Given the description of an element on the screen output the (x, y) to click on. 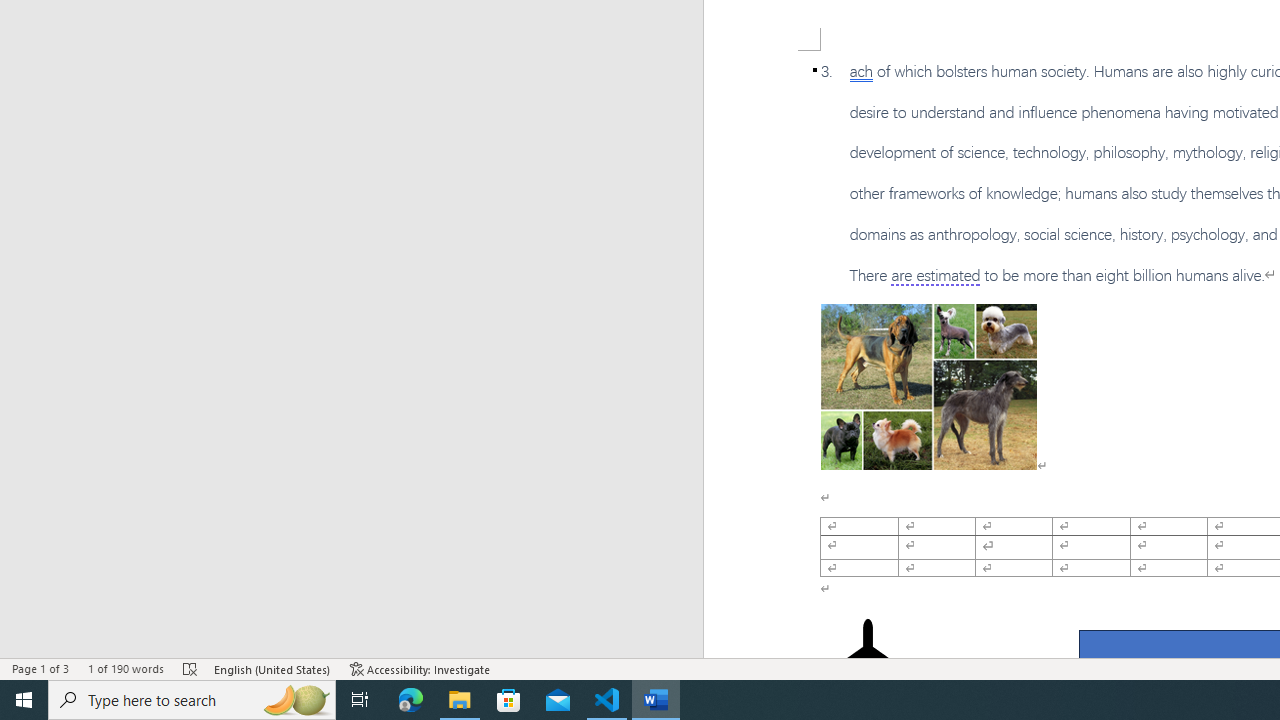
Morphological variation in six dogs (928, 386)
Airplane with solid fill (867, 657)
Spelling and Grammar Check Errors (191, 668)
Page Number Page 1 of 3 (39, 668)
Accessibility Checker Accessibility: Investigate (420, 668)
Language English (United States) (273, 668)
